Given the description of an element on the screen output the (x, y) to click on. 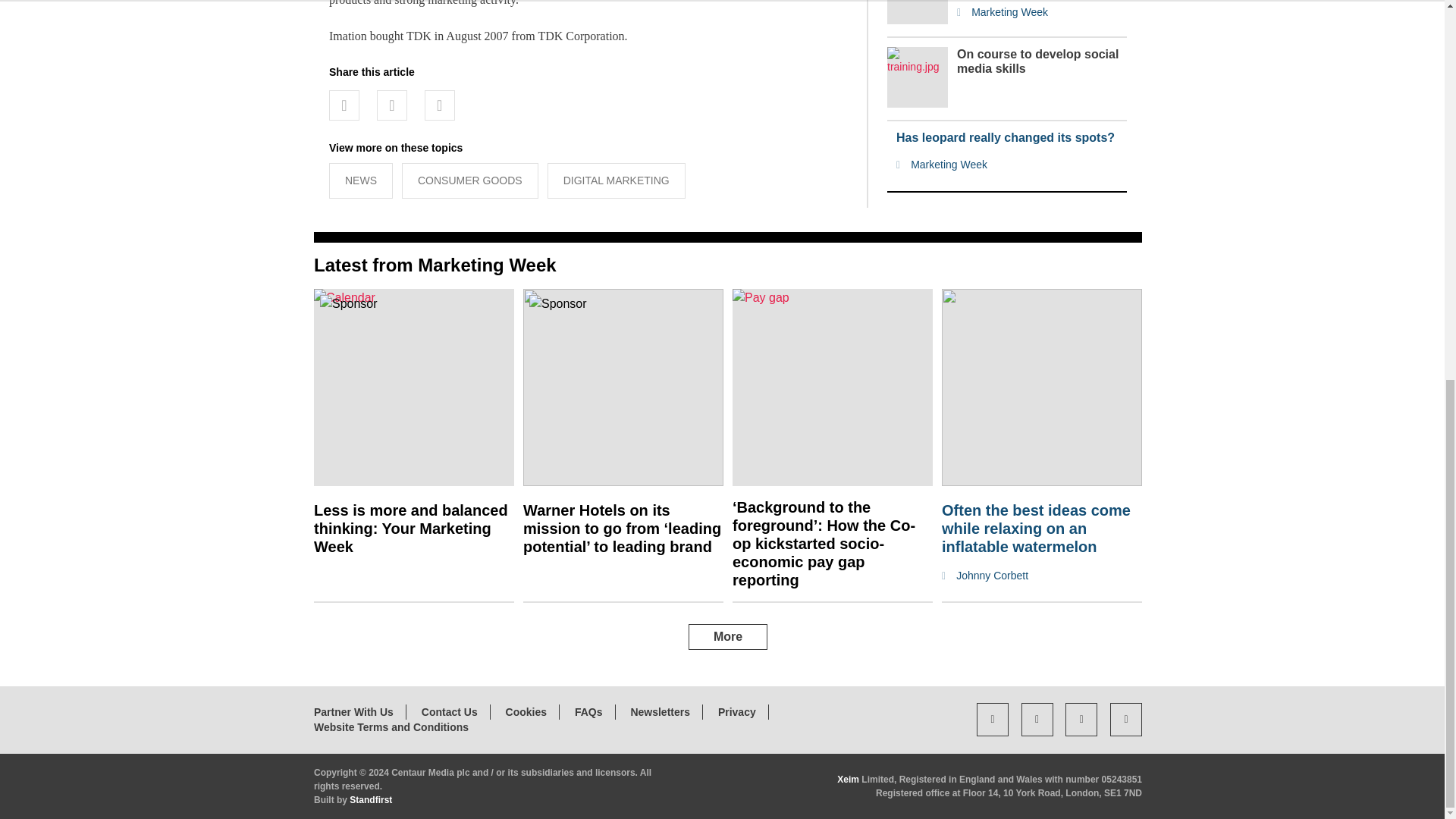
NEWS (361, 180)
CONSUMER GOODS (469, 180)
Privacy (736, 711)
Less is more and balanced thinking: Your Marketing Week (411, 528)
DIGITAL MARKETING (616, 180)
Latest from Marketing Week (435, 264)
